Given the description of an element on the screen output the (x, y) to click on. 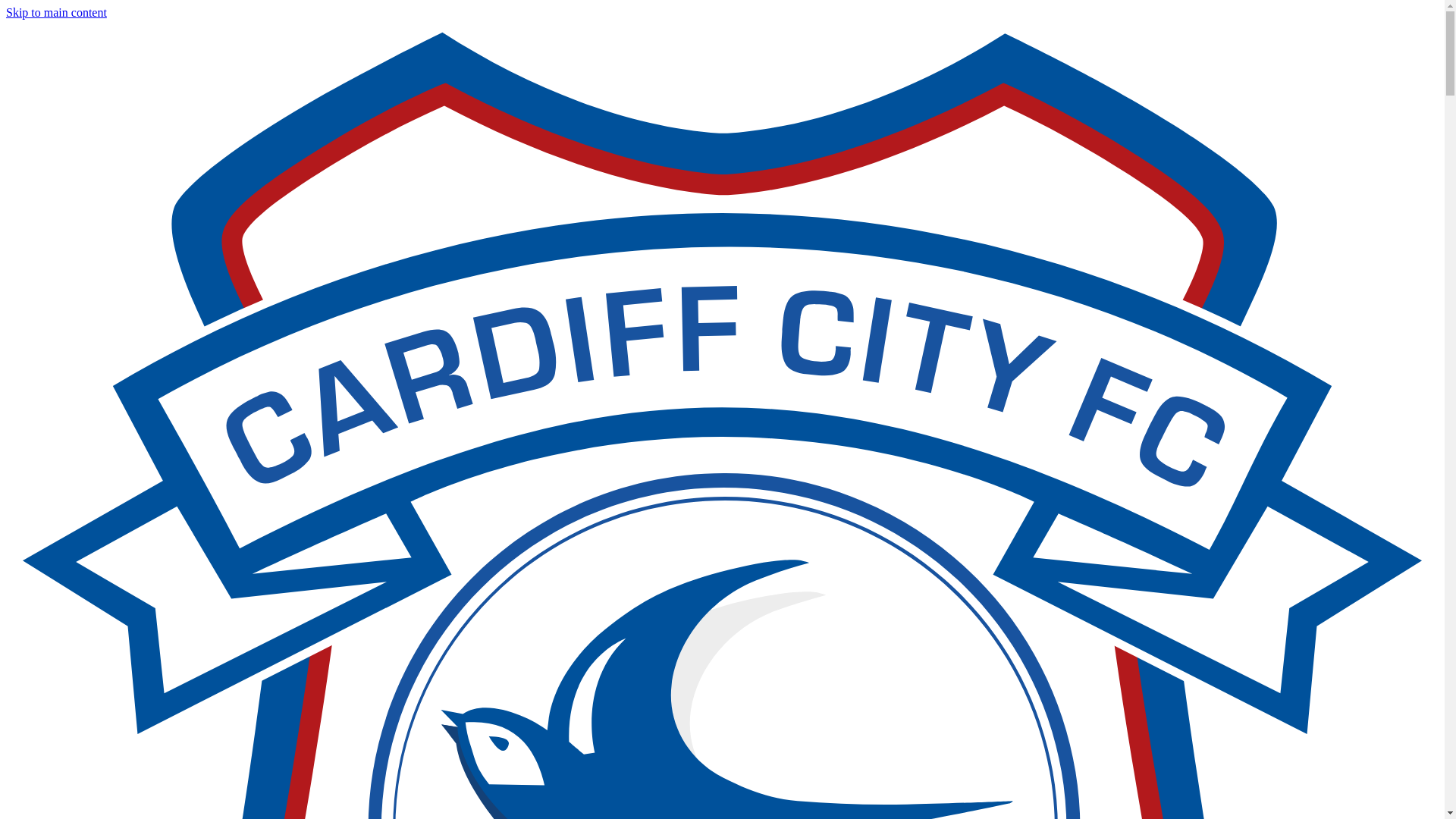
Skip to main content (55, 11)
